Given the description of an element on the screen output the (x, y) to click on. 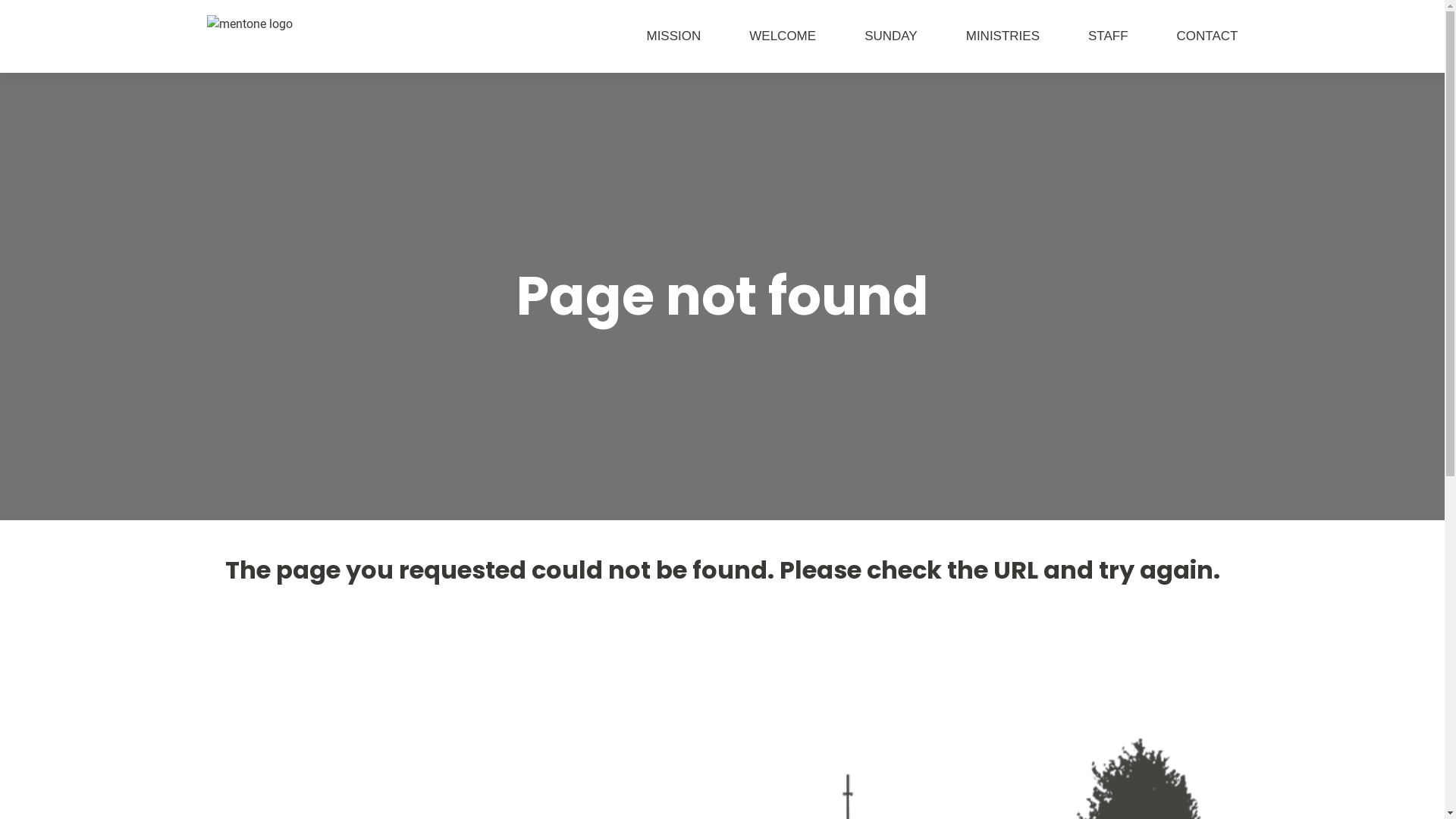
WELCOME Element type: text (757, 36)
MINISTRIES Element type: text (978, 36)
STAFF Element type: text (1083, 36)
SUNDAY Element type: text (866, 36)
MISSION Element type: text (648, 36)
CONTACT Element type: text (1183, 36)
